Given the description of an element on the screen output the (x, y) to click on. 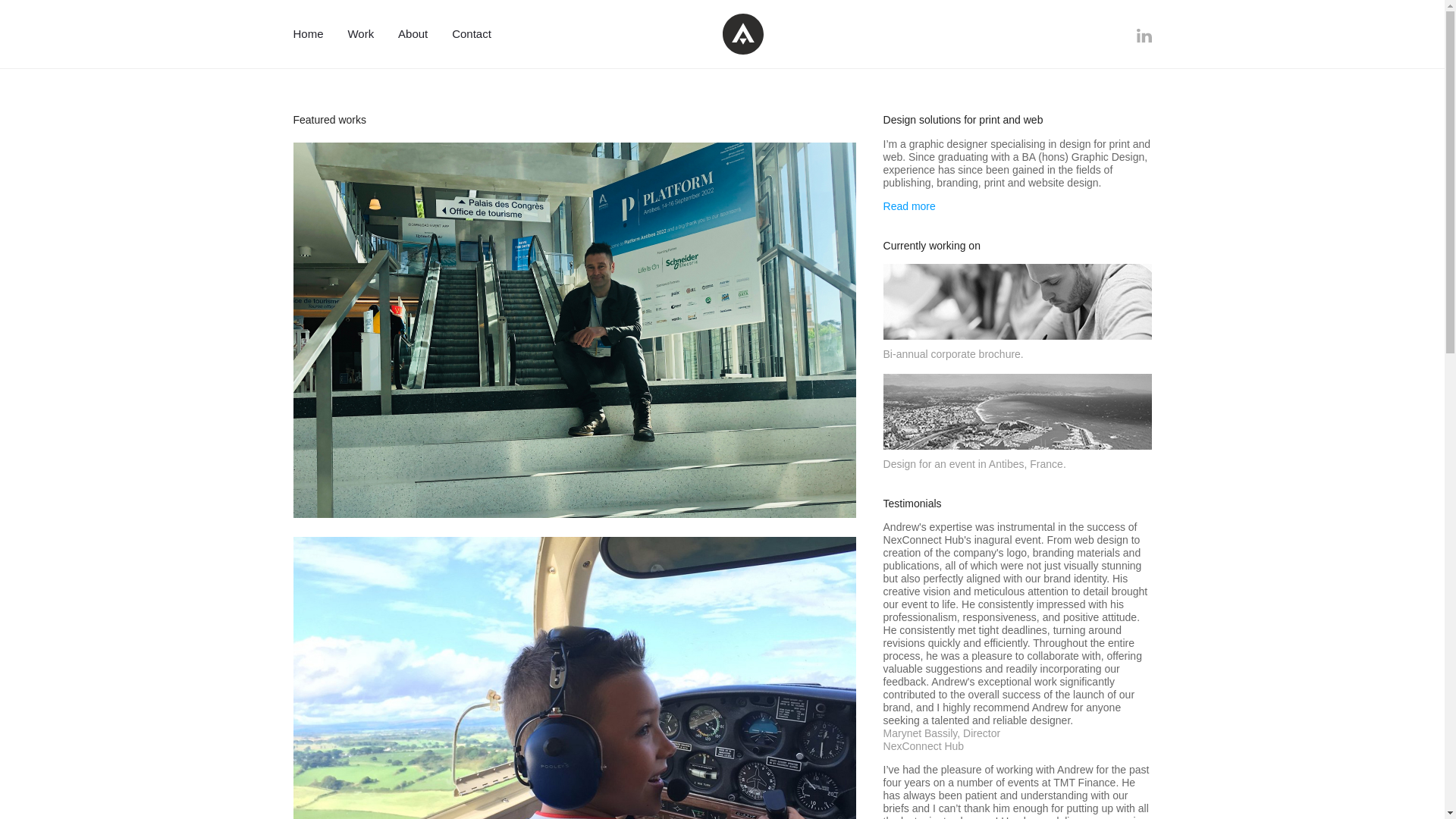
About (412, 33)
Work (360, 33)
Contact (471, 33)
LinkedIn (1143, 35)
Read more (909, 205)
Home (312, 33)
Andrew Convery (742, 33)
